Given the description of an element on the screen output the (x, y) to click on. 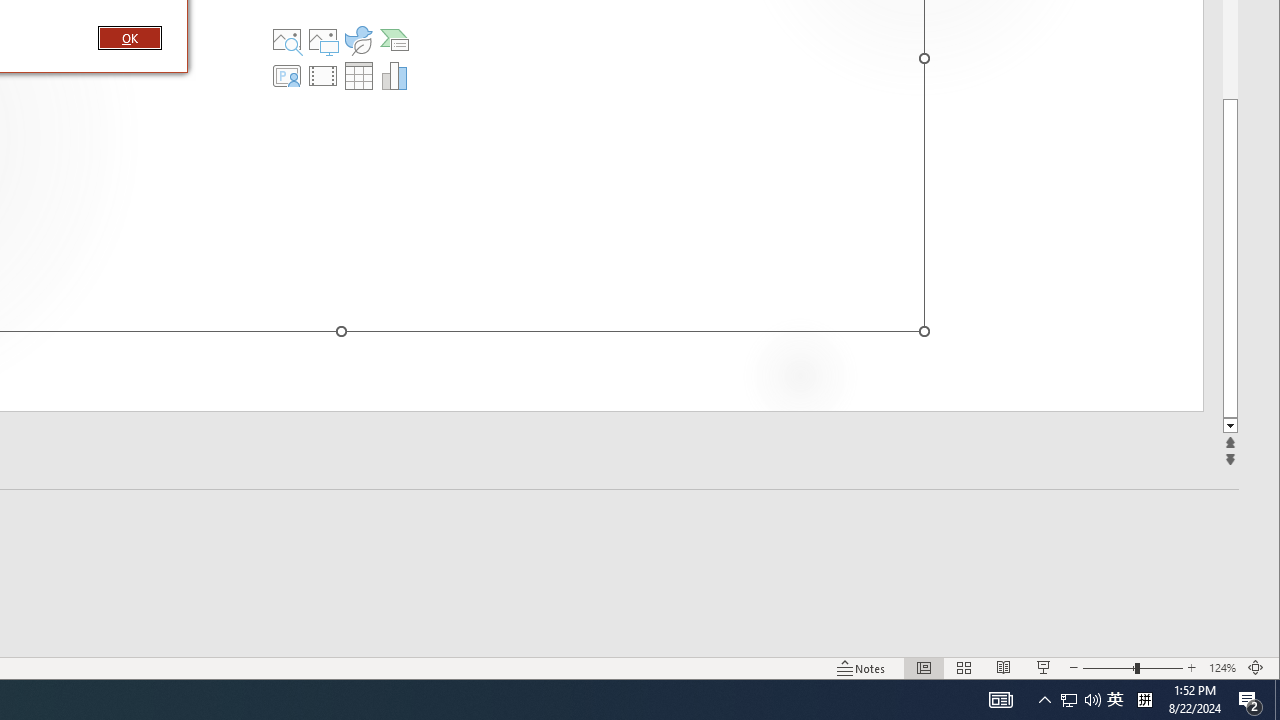
Tray Input Indicator - Chinese (Simplified, China) (1144, 699)
Insert Chart (394, 75)
Q2790: 100% (1092, 699)
Insert Video (323, 75)
Notification Chevron (1044, 699)
Insert a SmartArt Graphic (1115, 699)
User Promoted Notification Area (394, 39)
Insert an Icon (1080, 699)
